Given the description of an element on the screen output the (x, y) to click on. 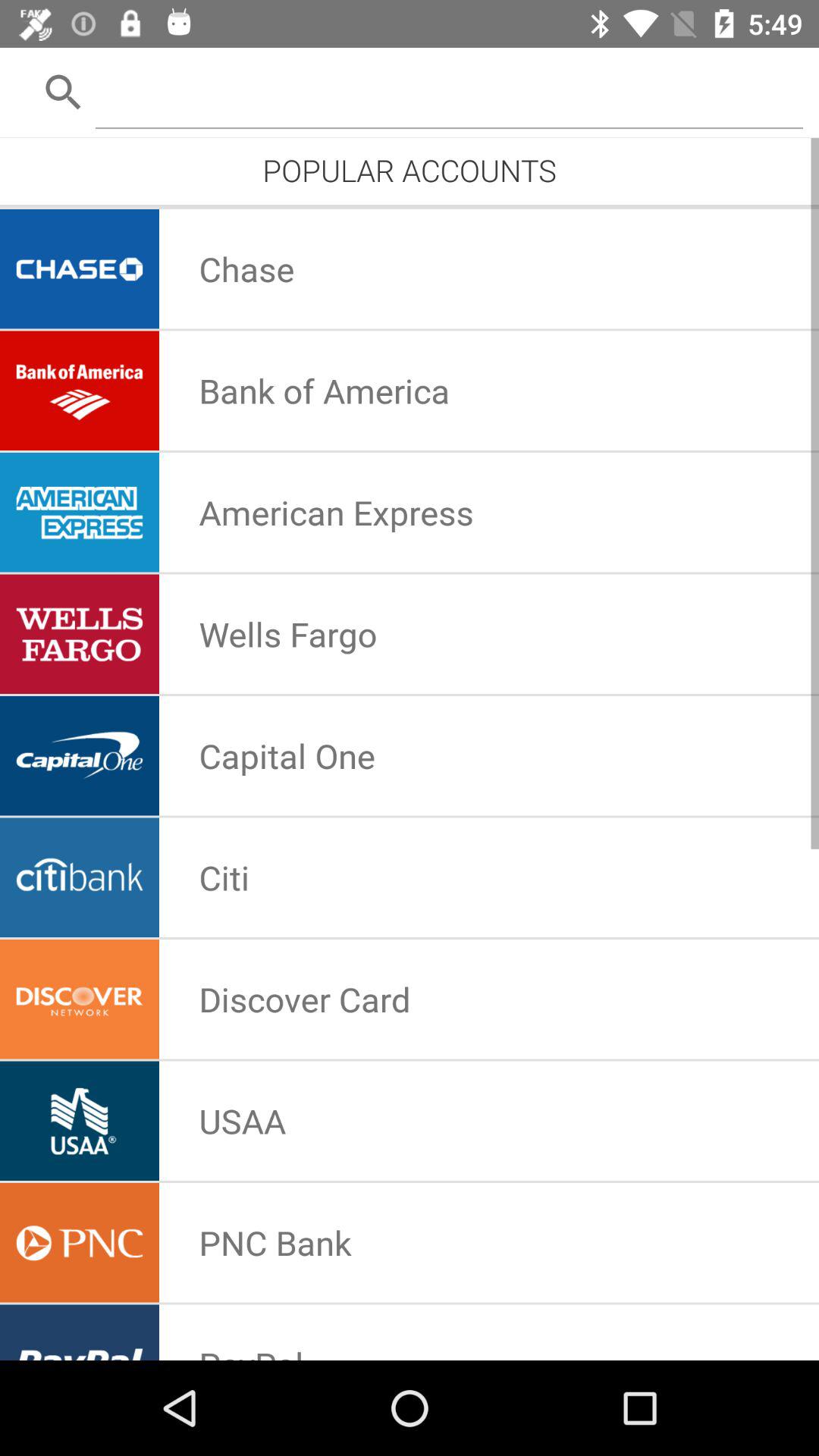
press the app above discover card (224, 877)
